Given the description of an element on the screen output the (x, y) to click on. 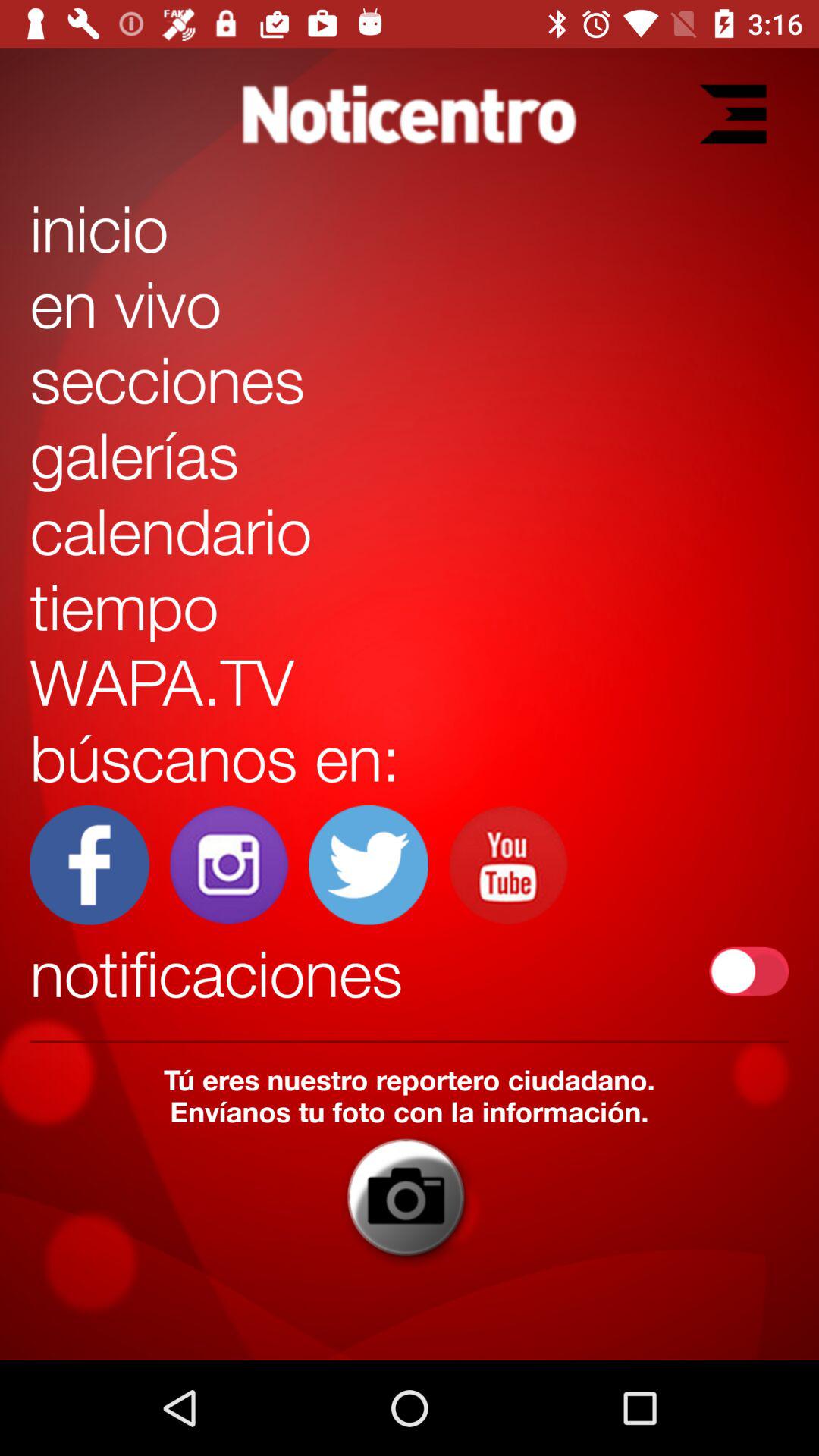
go to youtube (507, 864)
